Given the description of an element on the screen output the (x, y) to click on. 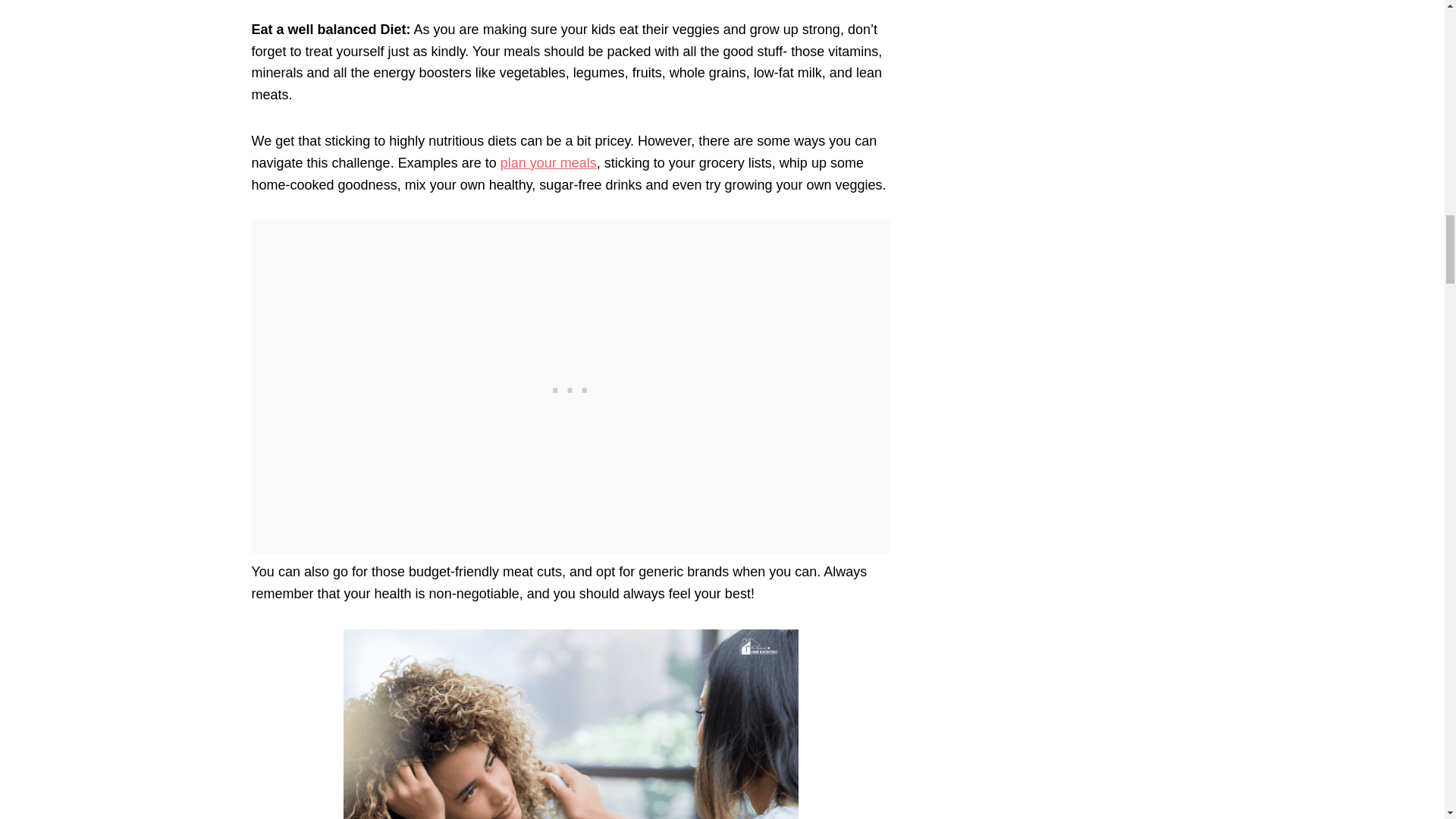
plan your meals (548, 162)
